Given the description of an element on the screen output the (x, y) to click on. 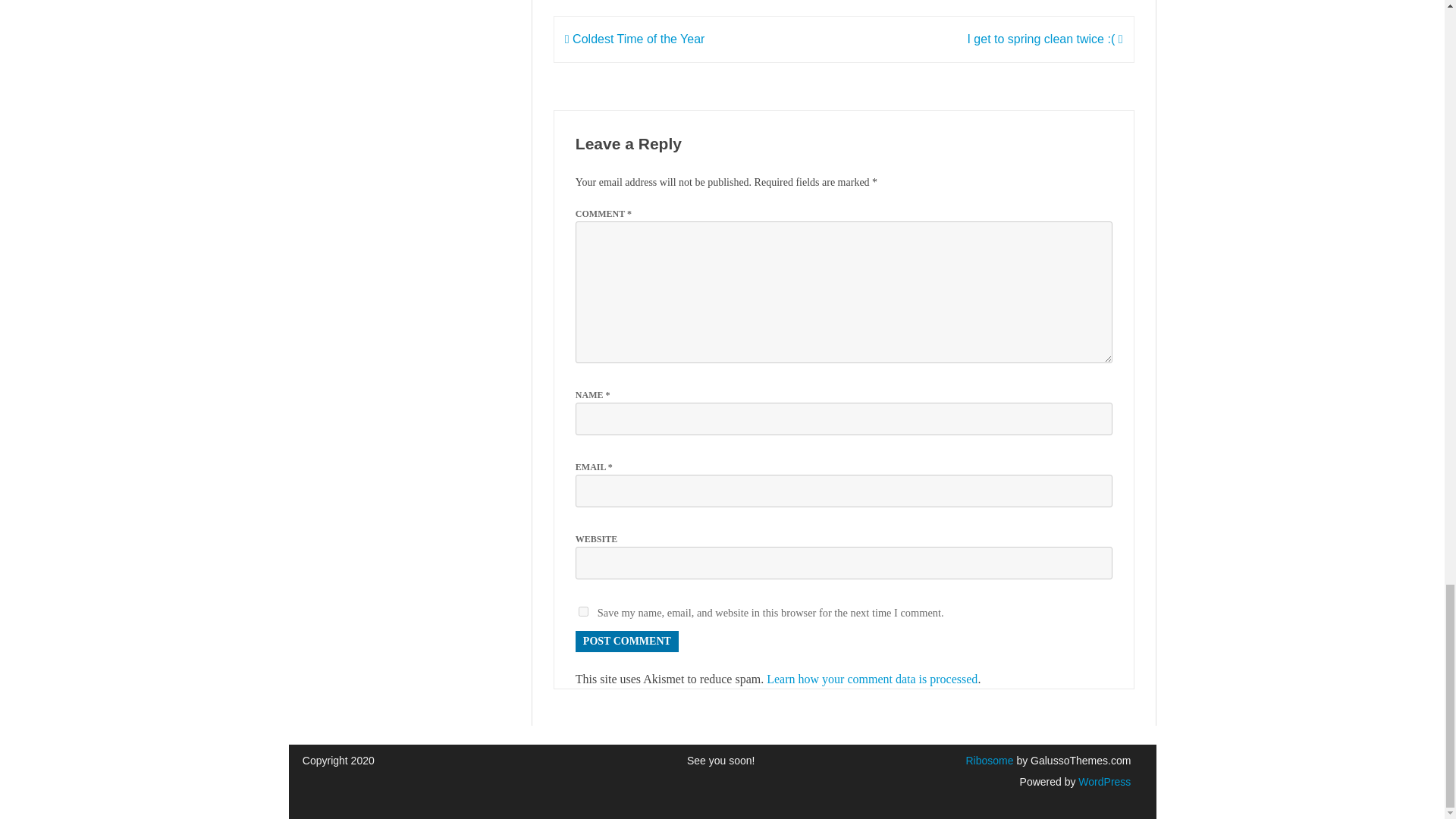
Learn how your comment data is processed (871, 678)
Coldest Time of the Year (634, 38)
yes (583, 611)
Semantic Personal Publishing Platform (1103, 781)
Post Comment (626, 640)
Post Comment (626, 640)
